Given the description of an element on the screen output the (x, y) to click on. 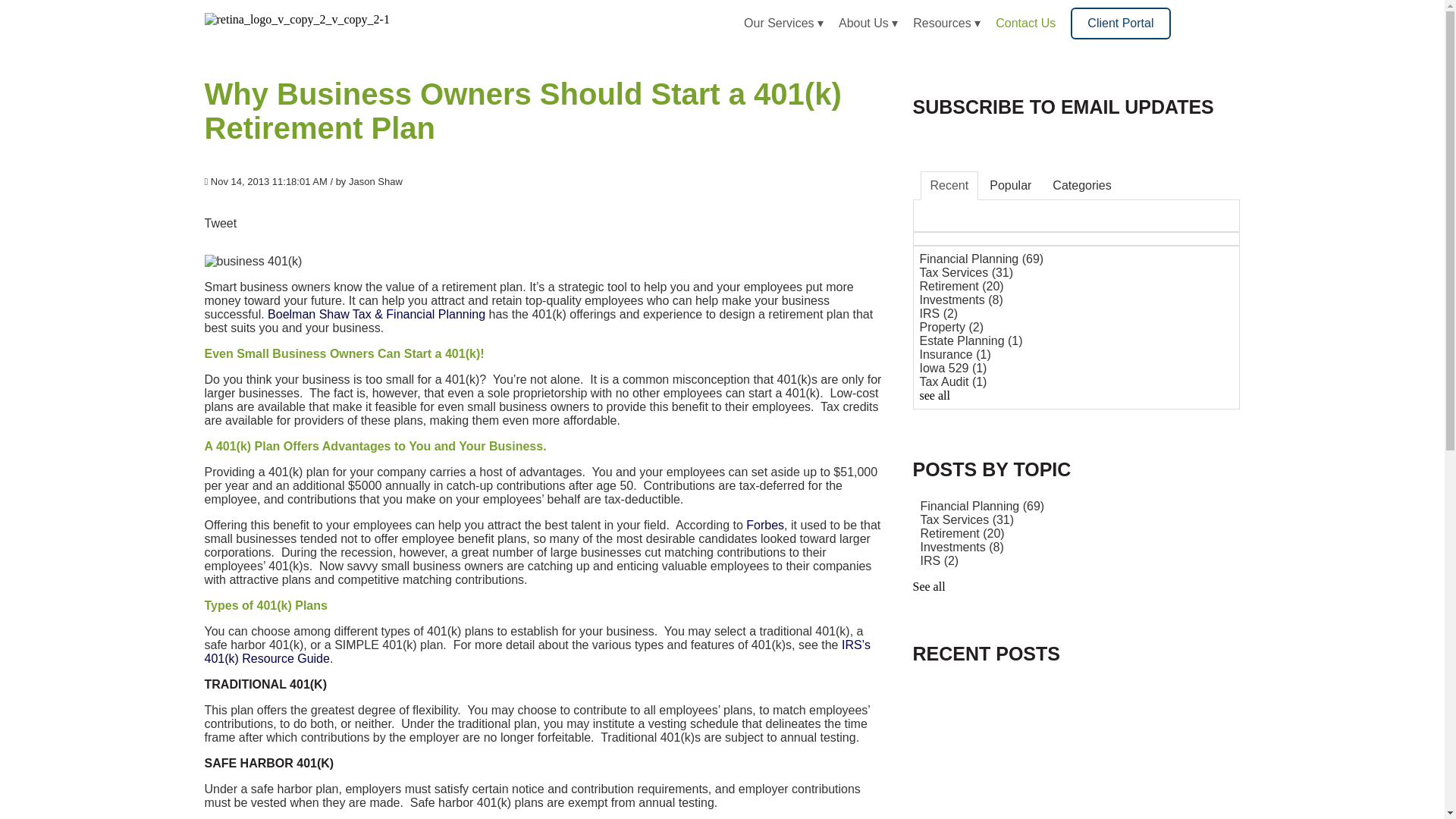
Forbes (764, 524)
About Us (863, 23)
Resources (941, 23)
Recent (949, 185)
Our Services (778, 23)
Popular (1010, 185)
Boelman Shaw Capital Partners (375, 314)
Categories (1081, 185)
Contact Us (1025, 23)
Tweet (221, 223)
